Given the description of an element on the screen output the (x, y) to click on. 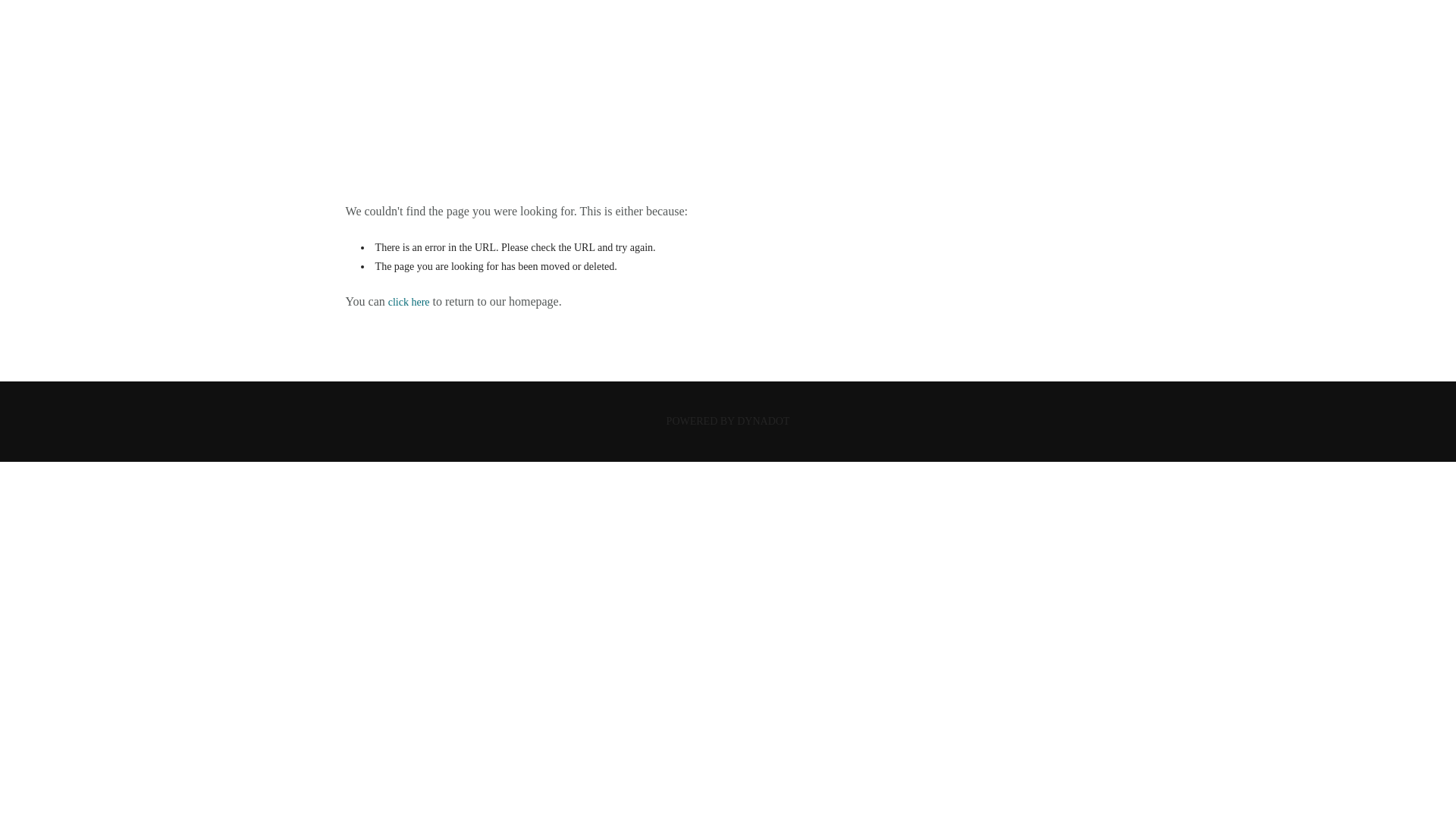
click here (408, 301)
POWERED BY DYNADOT (728, 420)
HOME (727, 103)
JOURNEY (727, 48)
